Given the description of an element on the screen output the (x, y) to click on. 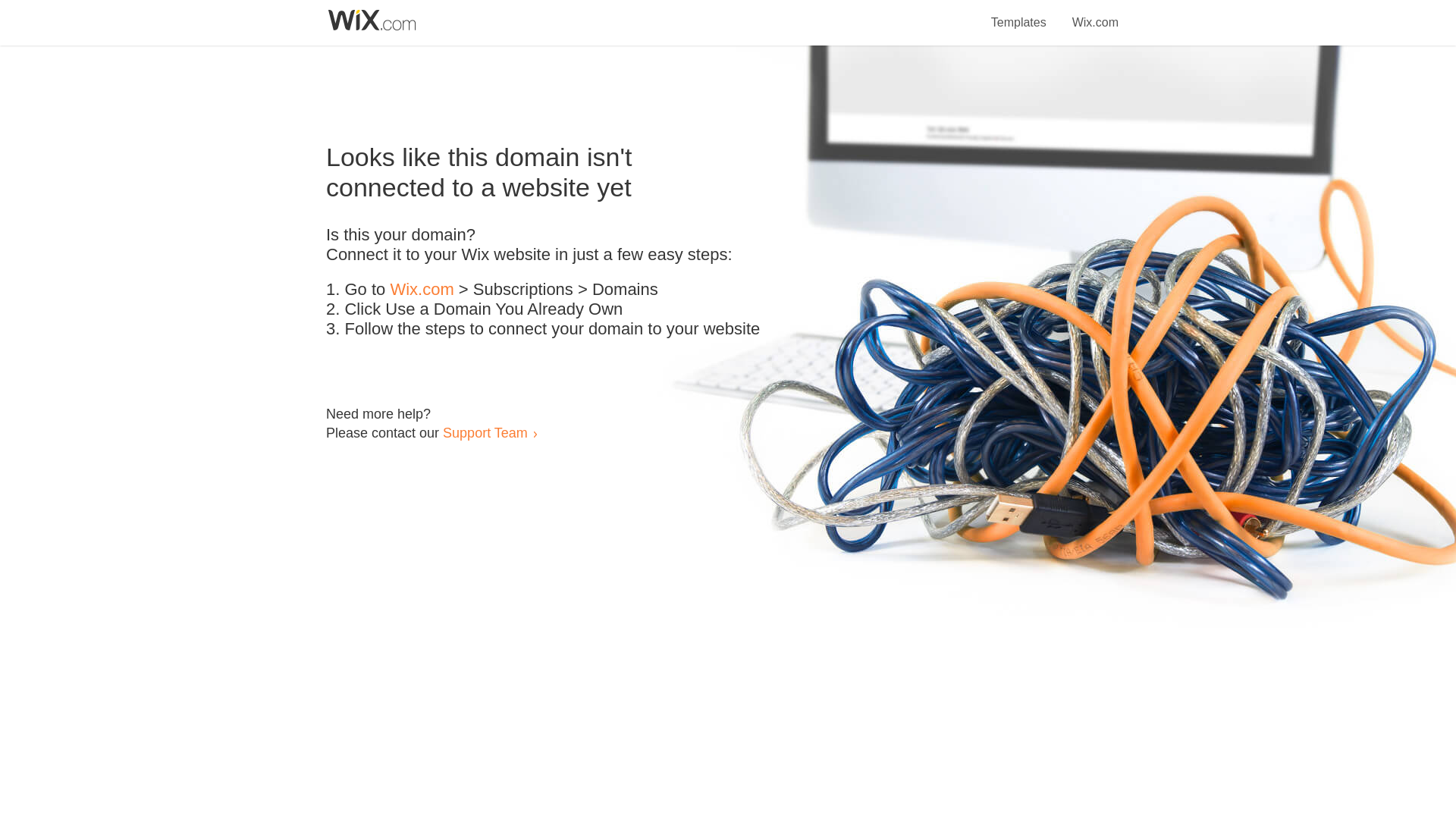
Wix.com (421, 289)
Templates (1018, 14)
Wix.com (1095, 14)
Support Team (484, 432)
